Given the description of an element on the screen output the (x, y) to click on. 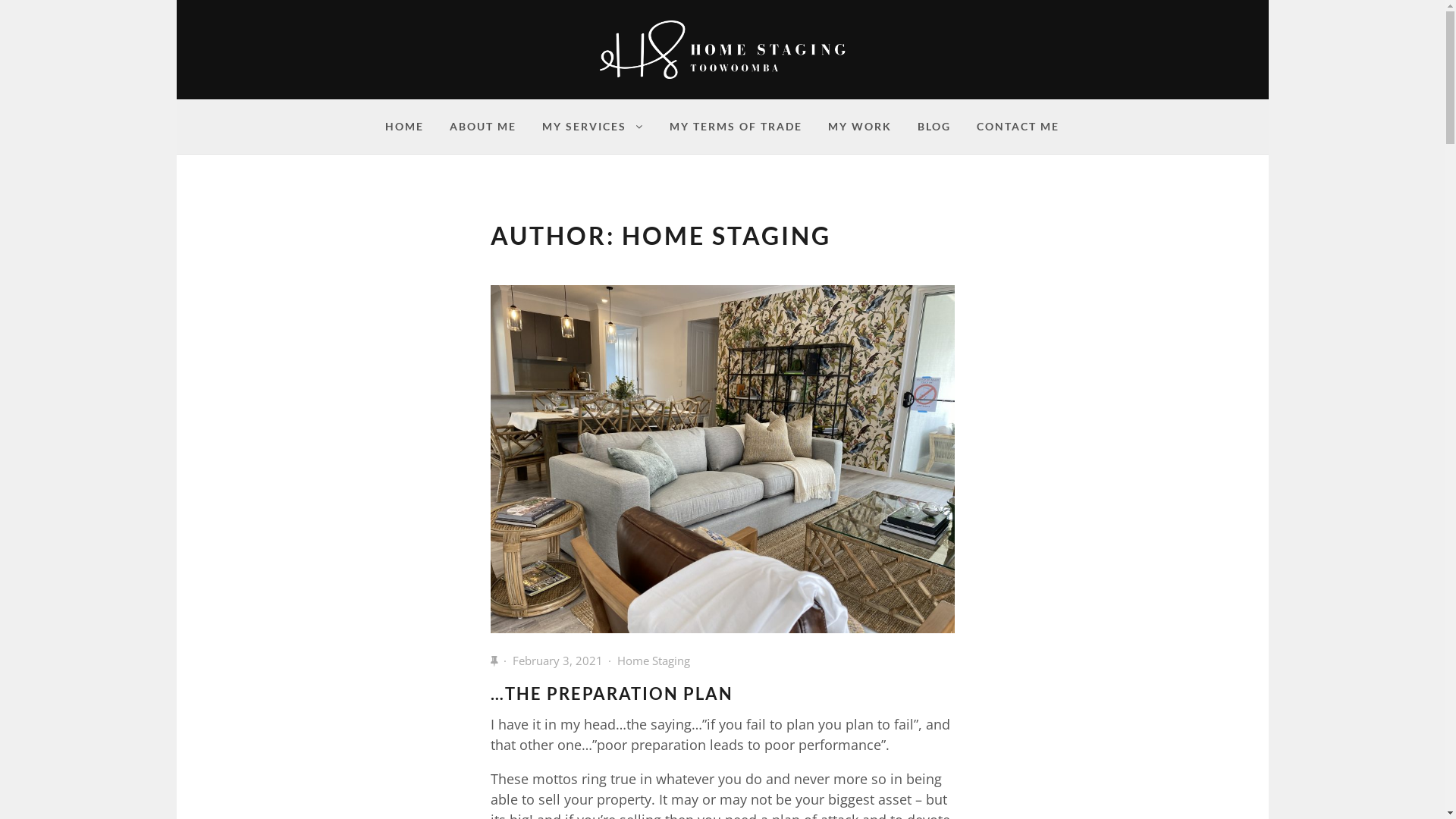
Home Staging Element type: text (653, 660)
BLOG Element type: text (933, 126)
February 3, 2021 Element type: text (557, 660)
SKIP TO CONTENT Element type: text (29, 17)
ABOUT ME Element type: text (482, 126)
HOME Element type: text (405, 126)
CONTACT ME Element type: text (1017, 126)
MY WORK Element type: text (859, 126)
MY SERVICES Element type: text (592, 126)
HOME STAGING TOOWOOMBA Element type: text (775, 90)
EXPAND CHILD MENU Element type: text (639, 125)
MY TERMS OF TRADE Element type: text (735, 126)
